Given the description of an element on the screen output the (x, y) to click on. 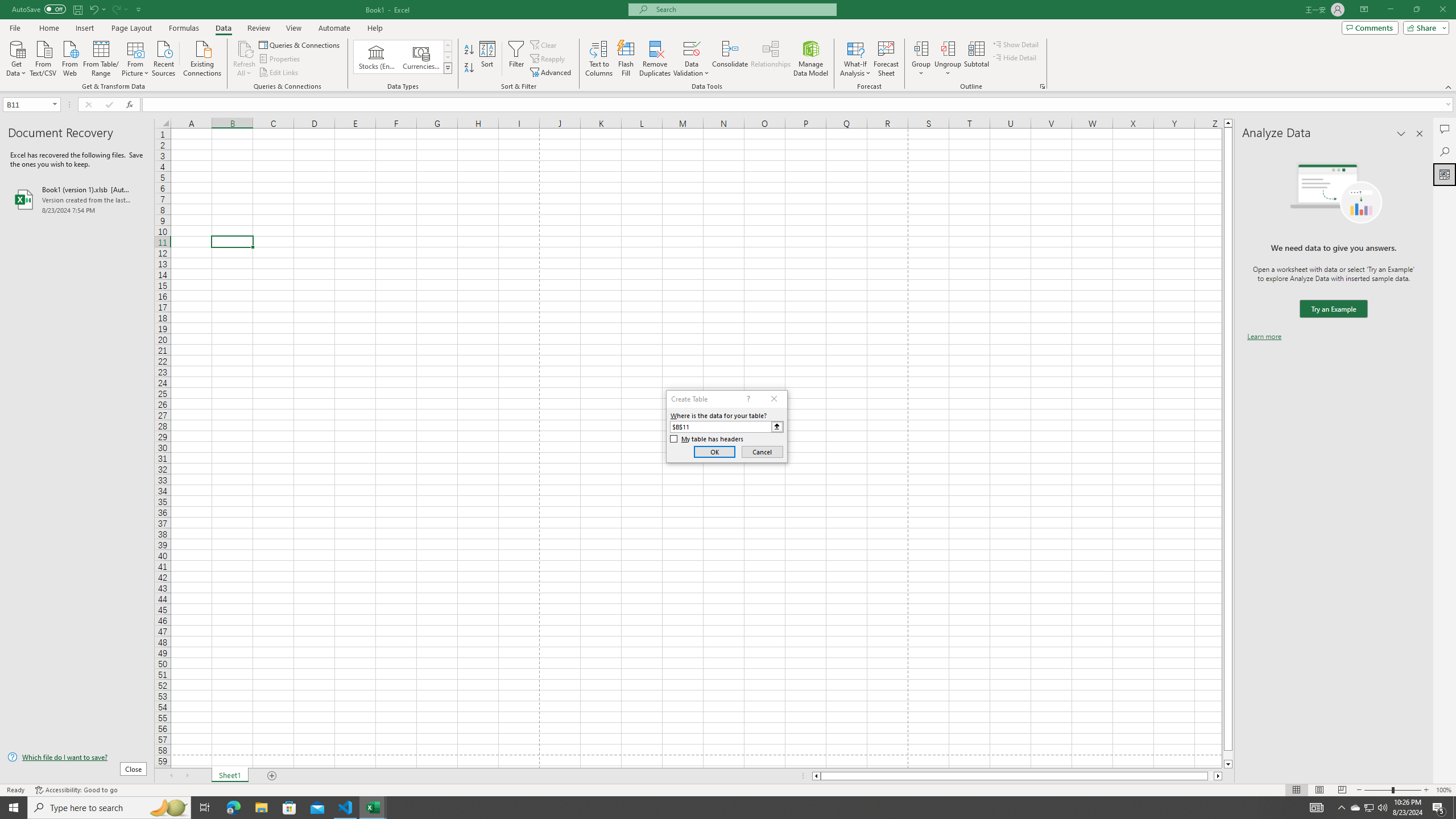
Consolidate... (729, 58)
Queries & Connections (300, 44)
From Picture (135, 57)
Edit Links (279, 72)
Sort Z to A (469, 67)
Group and Outline Settings (1042, 85)
